Given the description of an element on the screen output the (x, y) to click on. 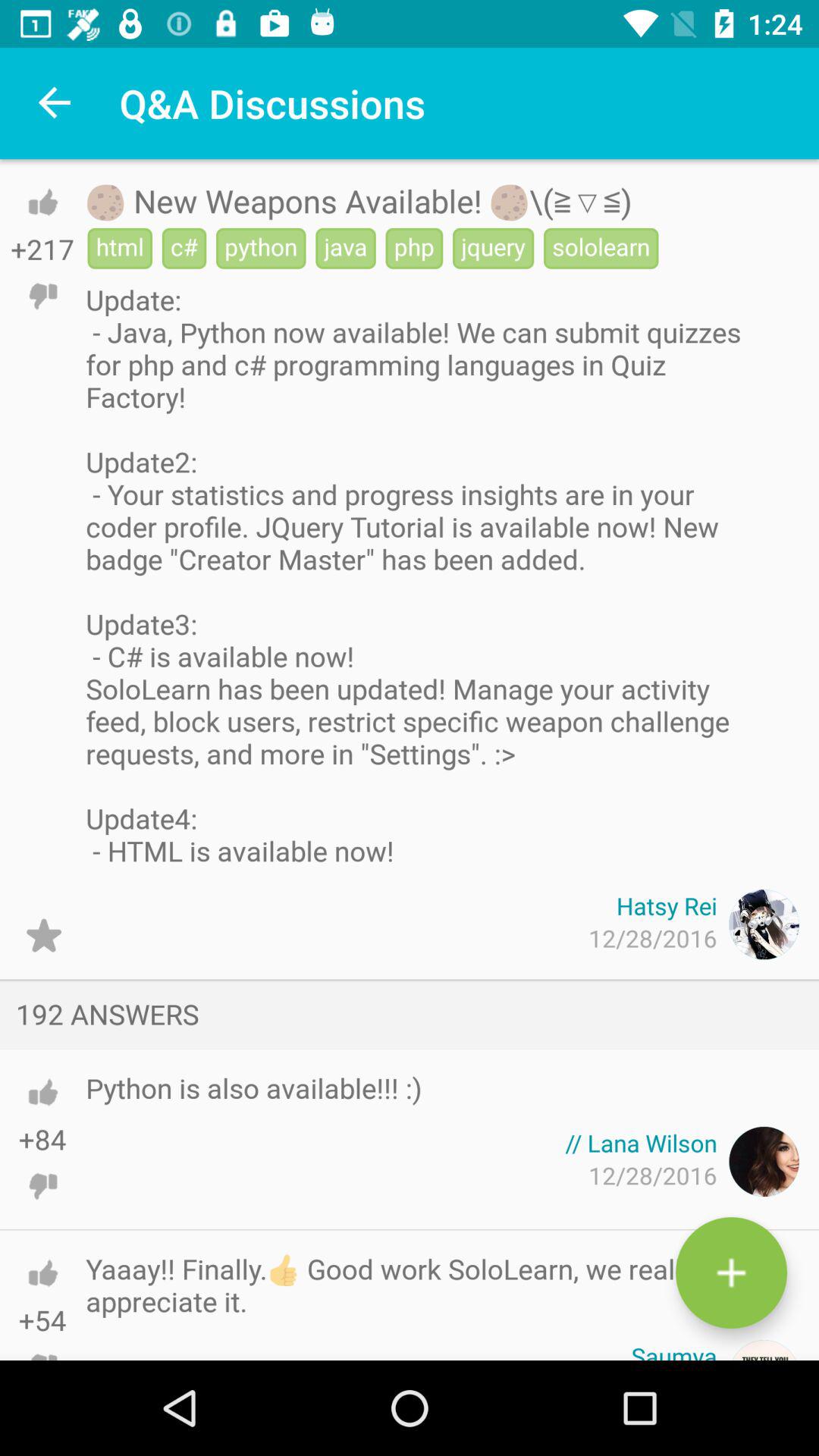
click to like option (42, 1092)
